Given the description of an element on the screen output the (x, y) to click on. 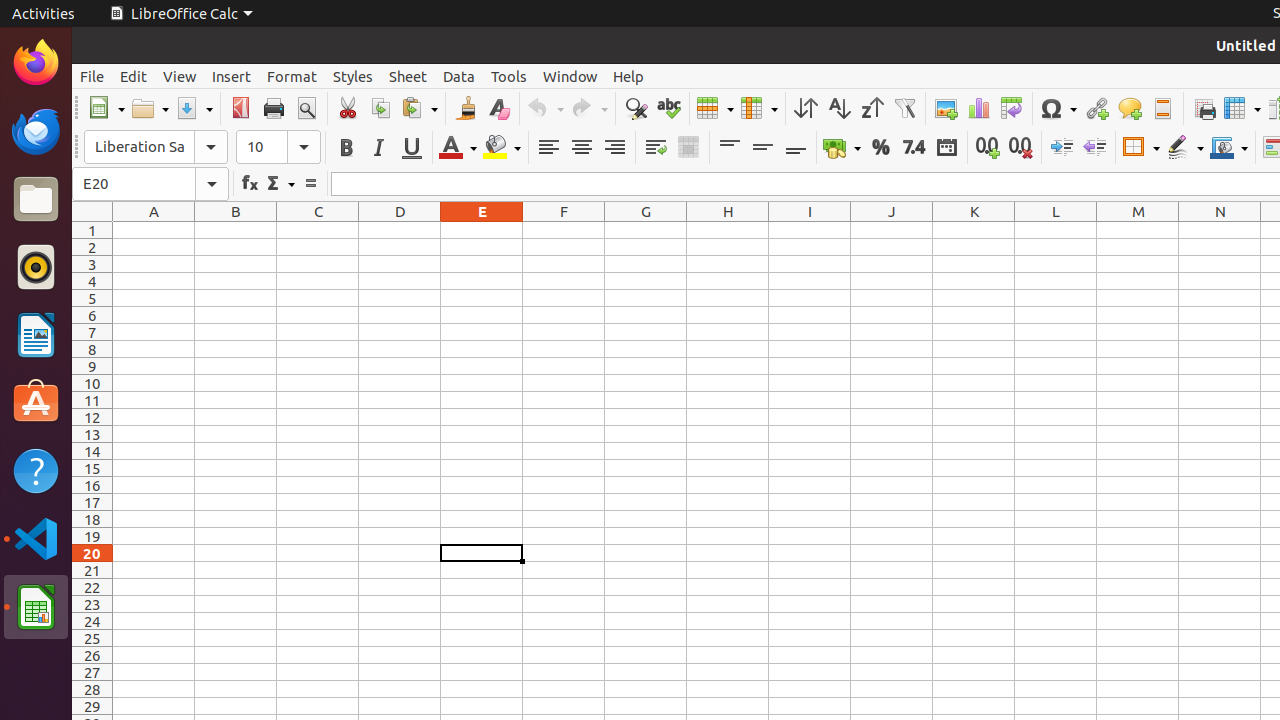
Visual Studio Code Element type: push-button (36, 538)
K1 Element type: table-cell (974, 230)
Image Element type: push-button (945, 108)
M1 Element type: table-cell (1138, 230)
Percent Element type: push-button (880, 147)
